Given the description of an element on the screen output the (x, y) to click on. 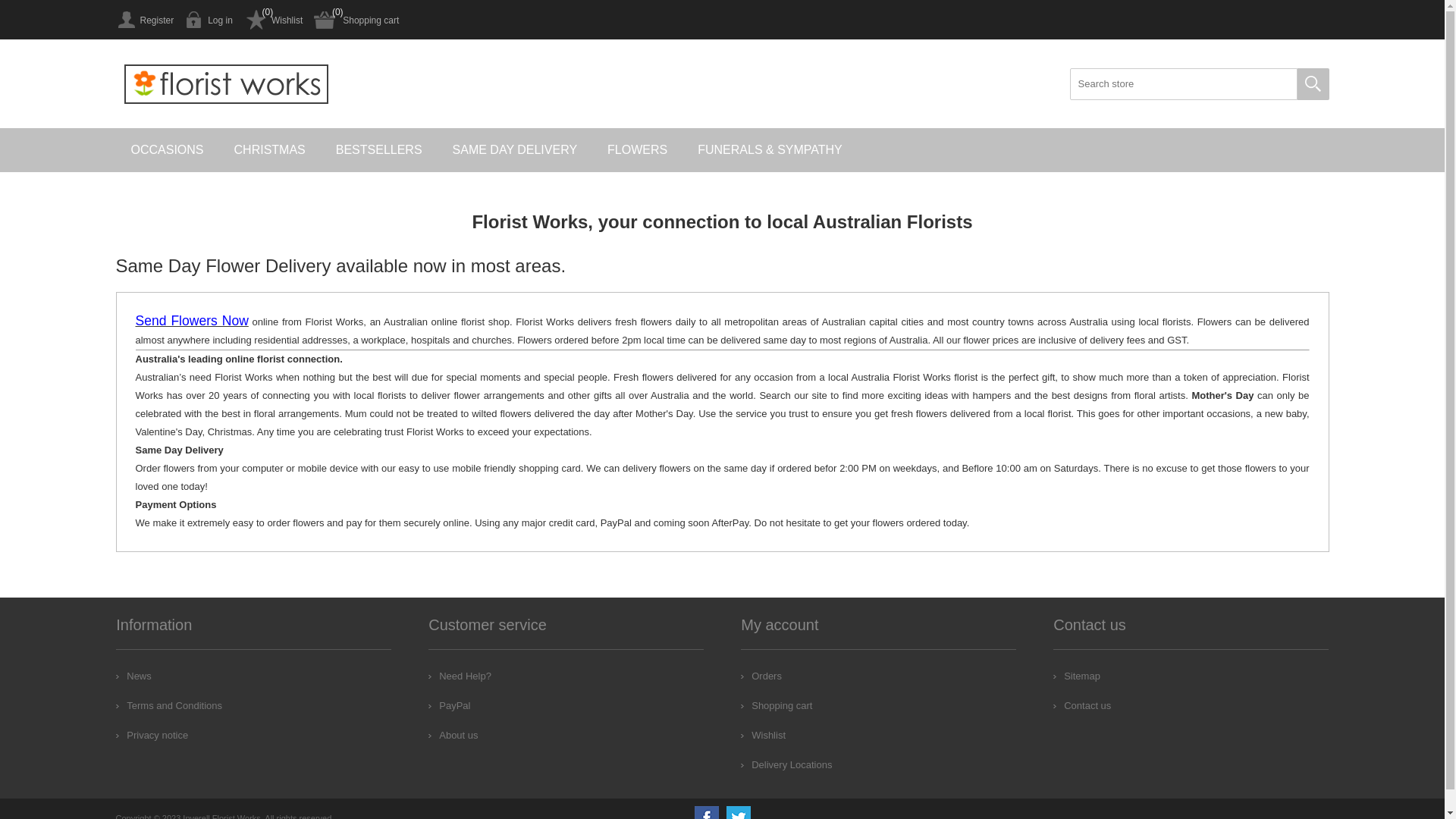
Terms and Conditions Element type: text (169, 705)
Contact us Element type: text (1081, 705)
CHRISTMAS Element type: text (269, 150)
Privacy notice Element type: text (152, 734)
Shopping cart Element type: text (355, 19)
FLOWERS Element type: text (637, 150)
Log in Element type: text (208, 19)
OCCASIONS Element type: text (166, 150)
SAME DAY DELIVERY Element type: text (515, 150)
Shopping cart Element type: text (776, 705)
PayPal Element type: text (449, 705)
BESTSELLERS Element type: text (378, 150)
FUNERALS & SYMPATHY Element type: text (769, 150)
Need Help? Element type: text (459, 675)
Send Flowers Now Element type: text (190, 321)
News Element type: text (133, 675)
Sitemap Element type: text (1076, 675)
About us Element type: text (452, 734)
Delivery Locations Element type: text (785, 764)
Wishlist Element type: text (273, 19)
Wishlist Element type: text (762, 734)
Register Element type: text (144, 19)
Orders Element type: text (760, 675)
Search Element type: text (1312, 84)
